Given the description of an element on the screen output the (x, y) to click on. 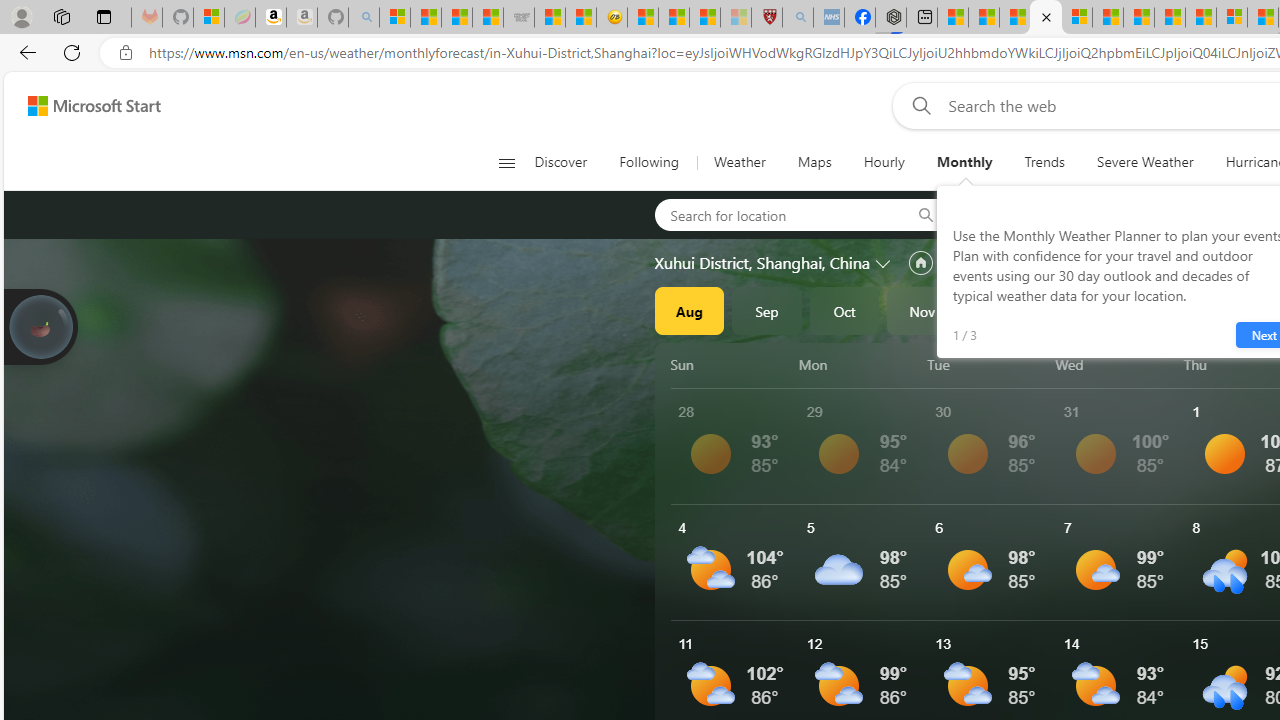
Dec (1000, 310)
Join us in planting real trees to help our planet! (40, 327)
Dec (1000, 310)
Search for location (776, 214)
2025Jan (1077, 310)
Severe Weather (1145, 162)
Monthly (964, 162)
Nov (922, 310)
